Given the description of an element on the screen output the (x, y) to click on. 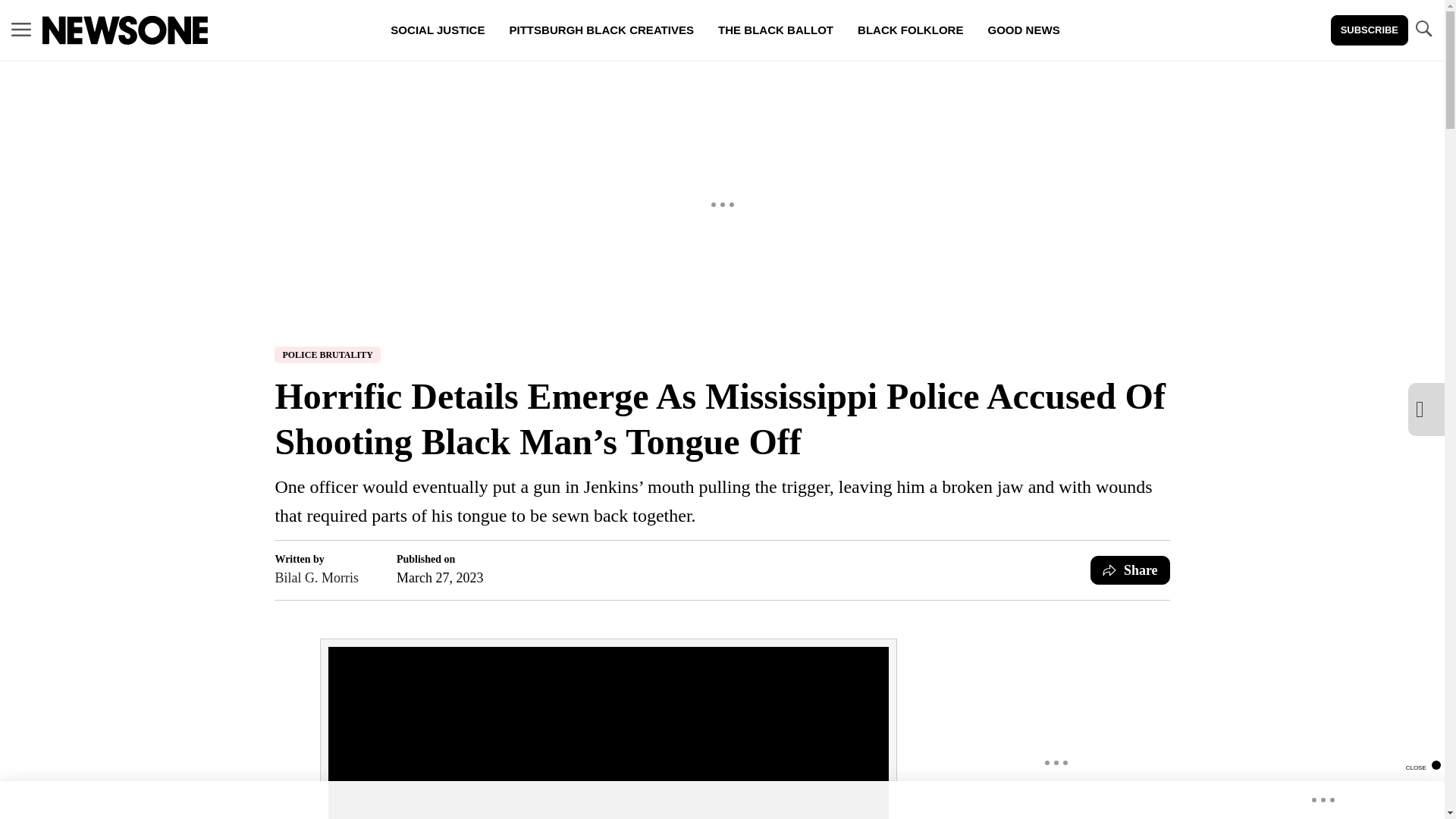
GOOD NEWS (1023, 30)
THE BLACK BALLOT (775, 30)
TOGGLE SEARCH (1422, 28)
SOCIAL JUSTICE (437, 30)
TOGGLE SEARCH (1422, 30)
MENU (20, 30)
MENU (20, 29)
Bilal G. Morris (316, 577)
Share (1130, 570)
POLICE BRUTALITY (327, 354)
